Given the description of an element on the screen output the (x, y) to click on. 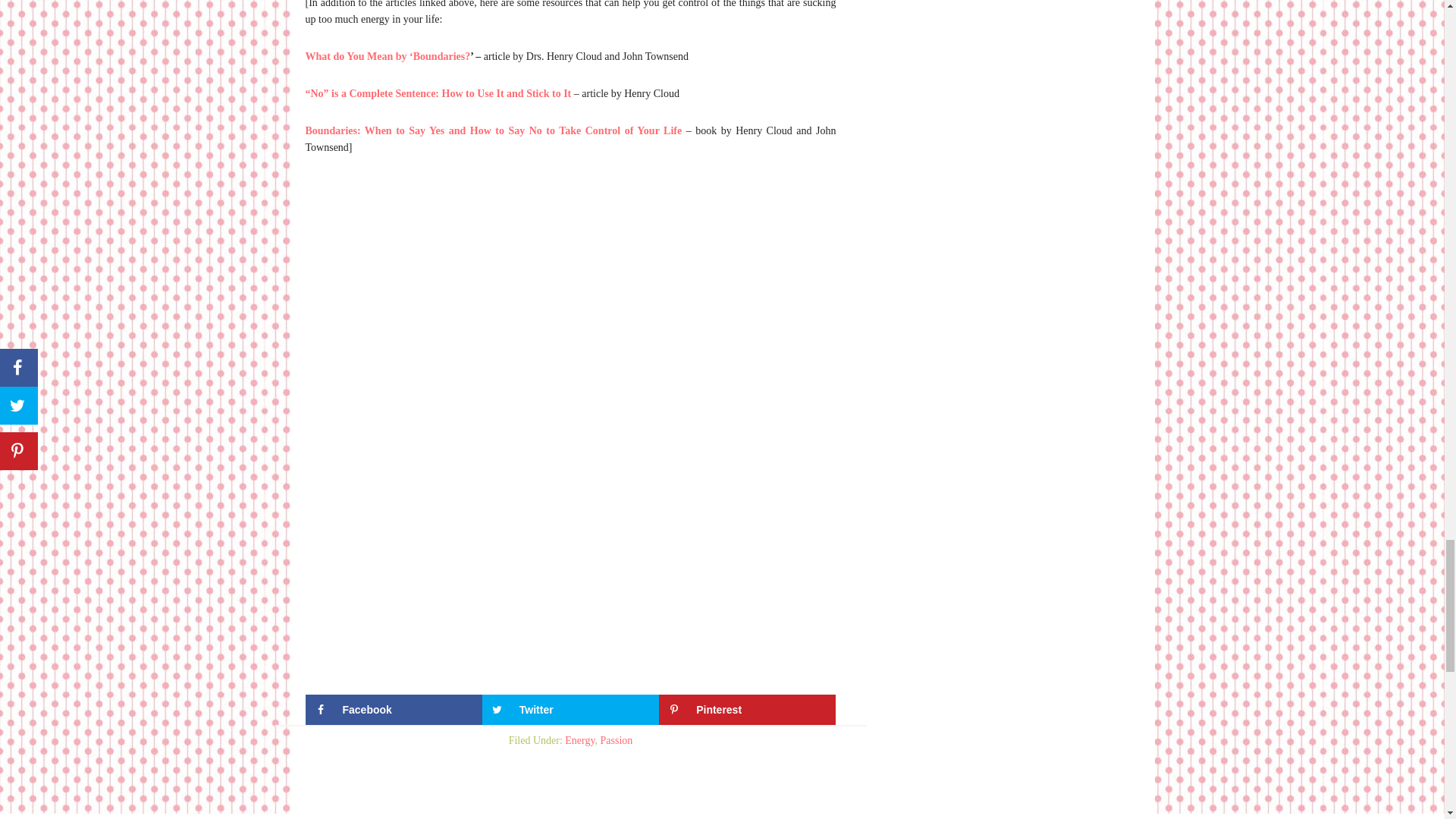
Passion (616, 740)
Energy (579, 740)
Facebook (392, 709)
Pinterest (747, 709)
Twitter (570, 709)
